Given the description of an element on the screen output the (x, y) to click on. 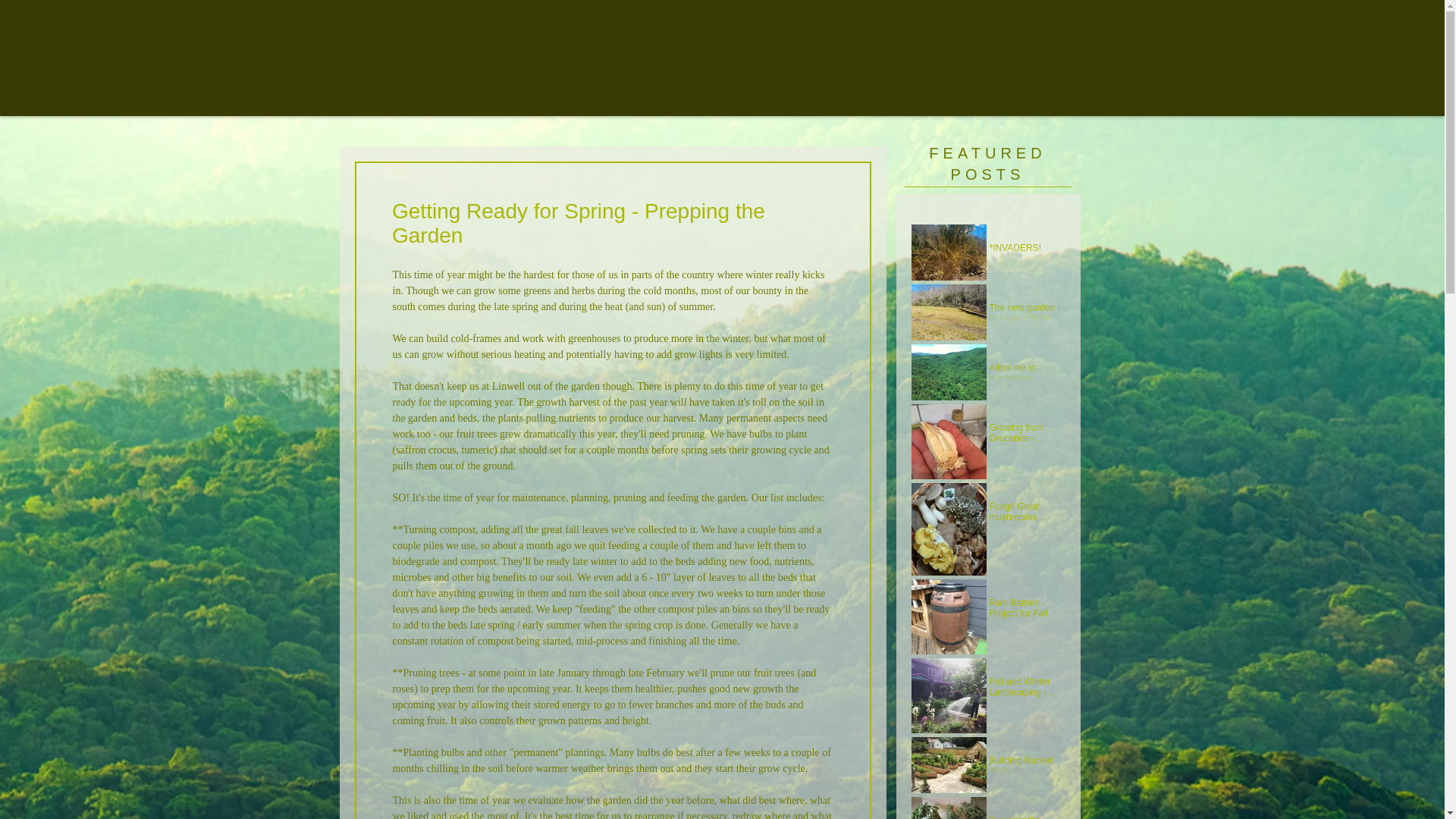
Rain Barrels - Project for Fall (1024, 612)
Allow me to reintroduce myself. (1024, 377)
Preserve the Herb (1024, 816)
Fall and Winter Landscaping - plus the edibles! (1024, 691)
Building Raised Beds (1024, 770)
The new garden - terraced hillside (1024, 317)
Fungi! Great mushrooms grown indoors (1024, 516)
